Given the description of an element on the screen output the (x, y) to click on. 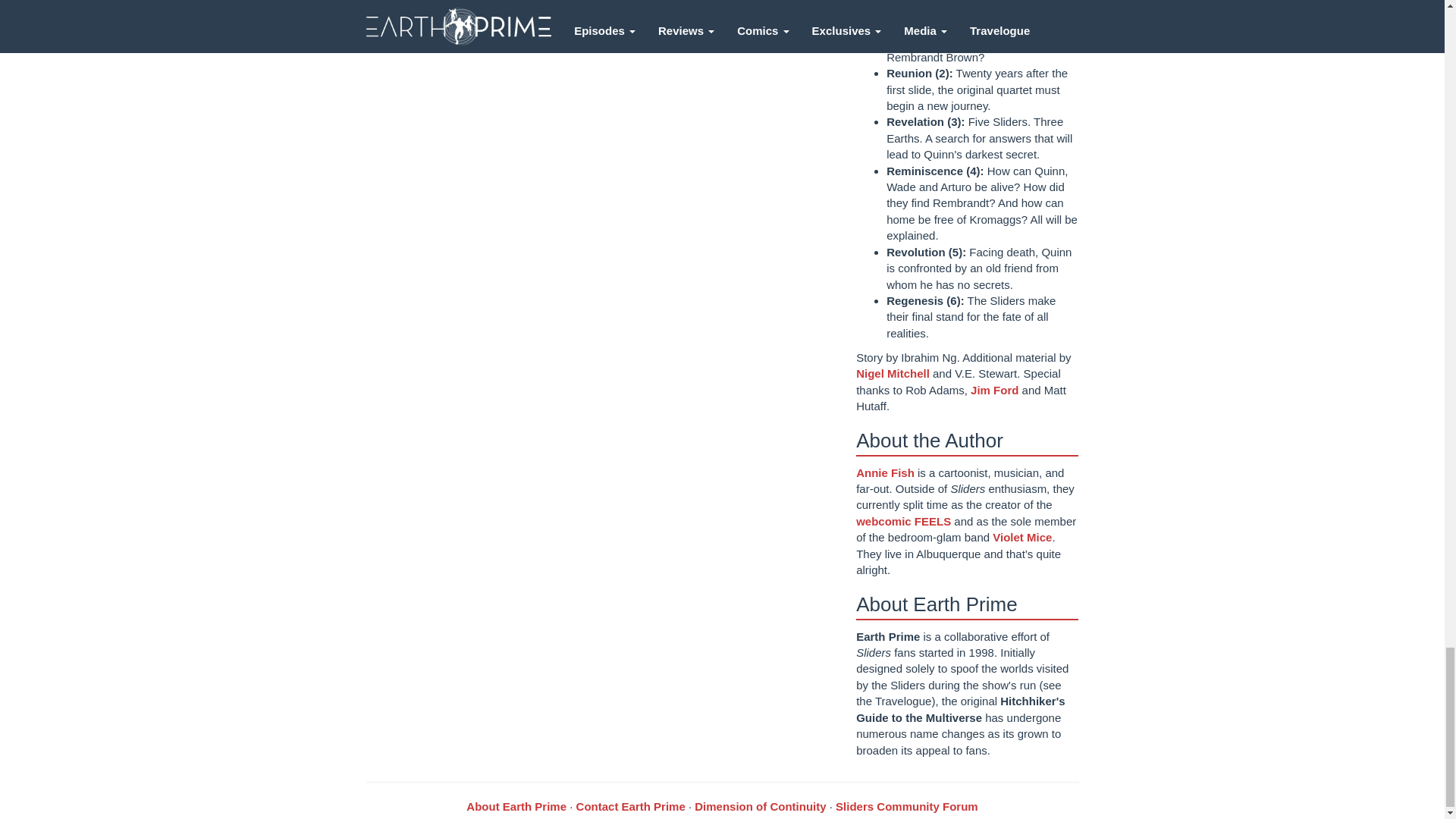
About Earth Prime (515, 806)
Contact Earth Prime (630, 806)
